Given the description of an element on the screen output the (x, y) to click on. 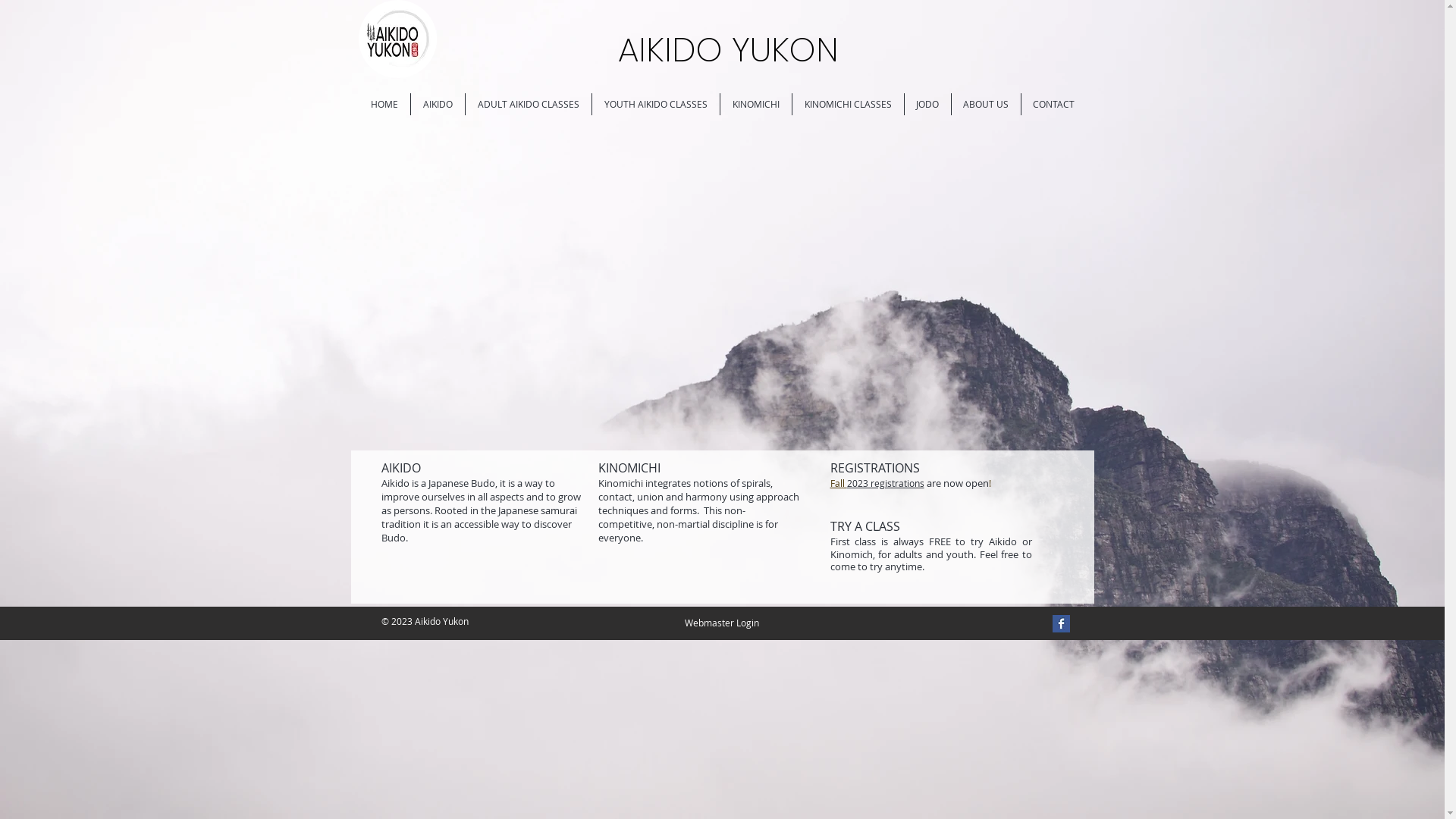
CONTACT Element type: text (1052, 104)
YOUTH AIKIDO CLASSES Element type: text (654, 104)
ABOUT US Element type: text (984, 104)
HOME Element type: text (383, 104)
KINOMICHI Element type: text (755, 104)
Fall 2023 registrations Element type: text (876, 482)
AIKIDO Element type: text (437, 104)
JODO Element type: text (926, 104)
Webmaster Login Element type: text (721, 622)
KINOMICHI CLASSES Element type: text (847, 104)
ADULT AIKIDO CLASSES Element type: text (528, 104)
